Given the description of an element on the screen output the (x, y) to click on. 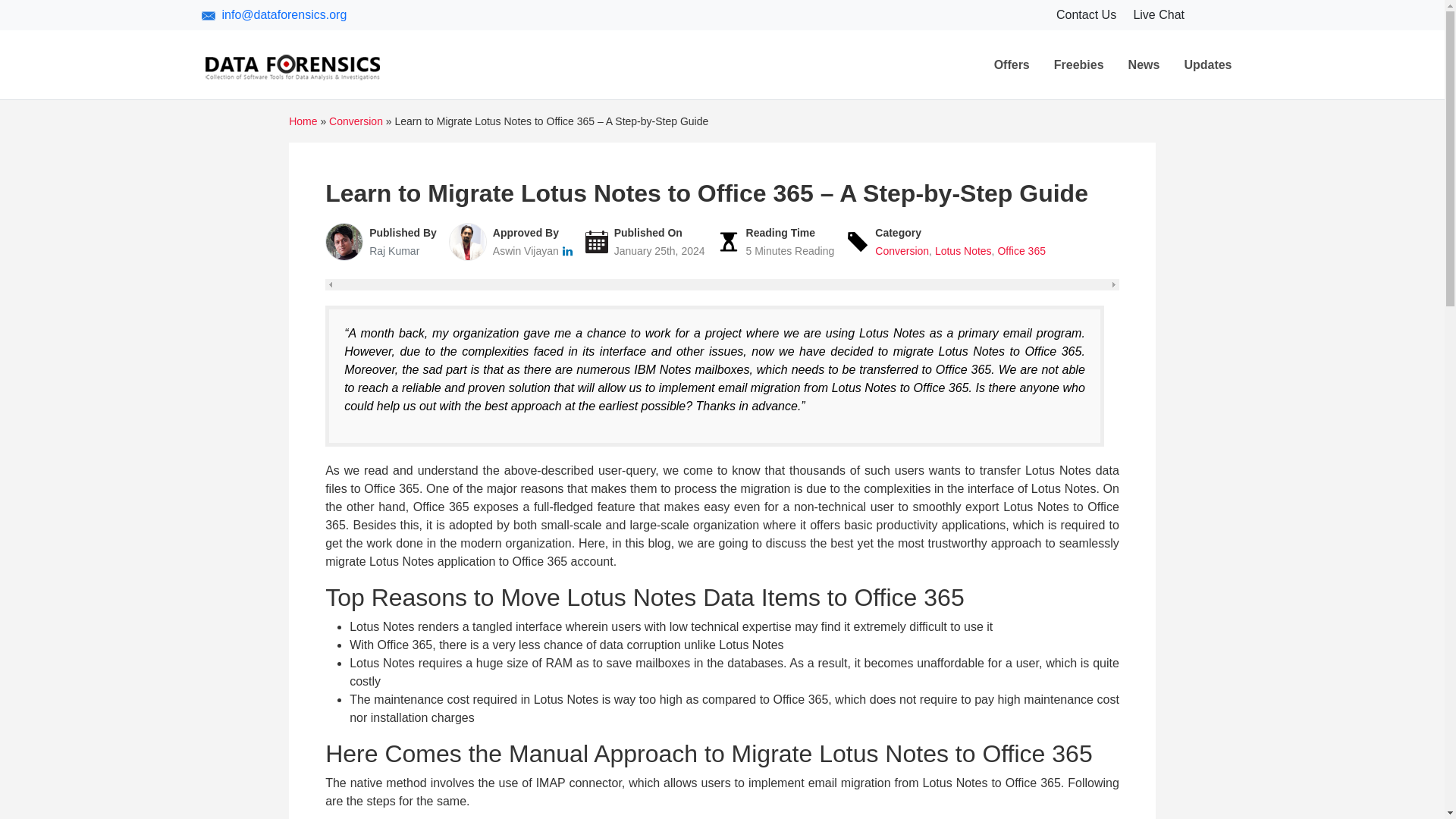
Freebies (1079, 64)
News (1144, 64)
Raj Kumar (394, 250)
Contact Us (1088, 14)
Conversion (355, 121)
Offers (1011, 64)
Office 365 (1021, 250)
Conversion (901, 250)
Home (302, 121)
Updates (1207, 64)
